Given the description of an element on the screen output the (x, y) to click on. 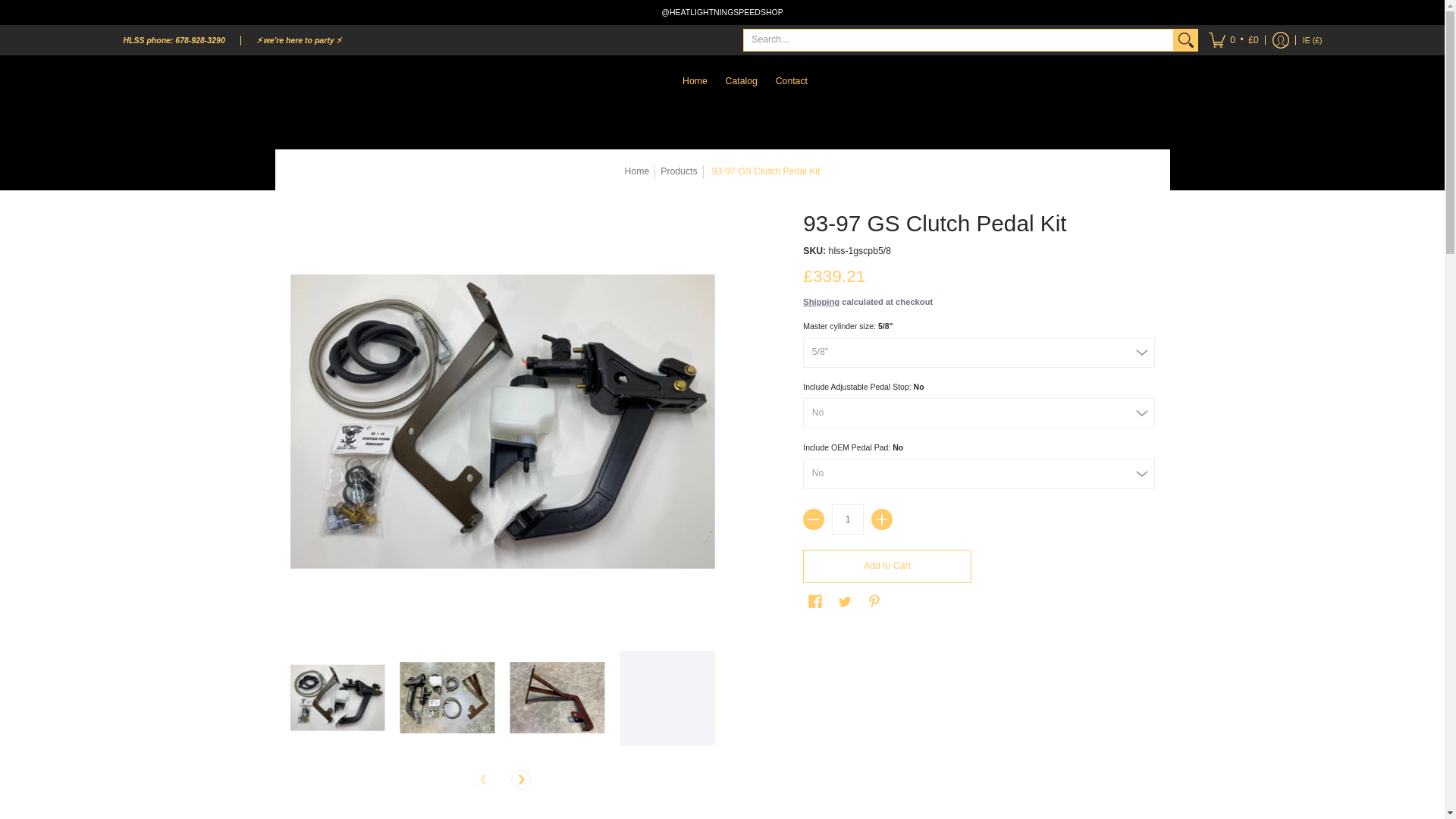
Home (636, 171)
Products (679, 171)
Update store currency (1312, 40)
Log in (1280, 40)
1 (847, 519)
Cart (1233, 40)
